Given the description of an element on the screen output the (x, y) to click on. 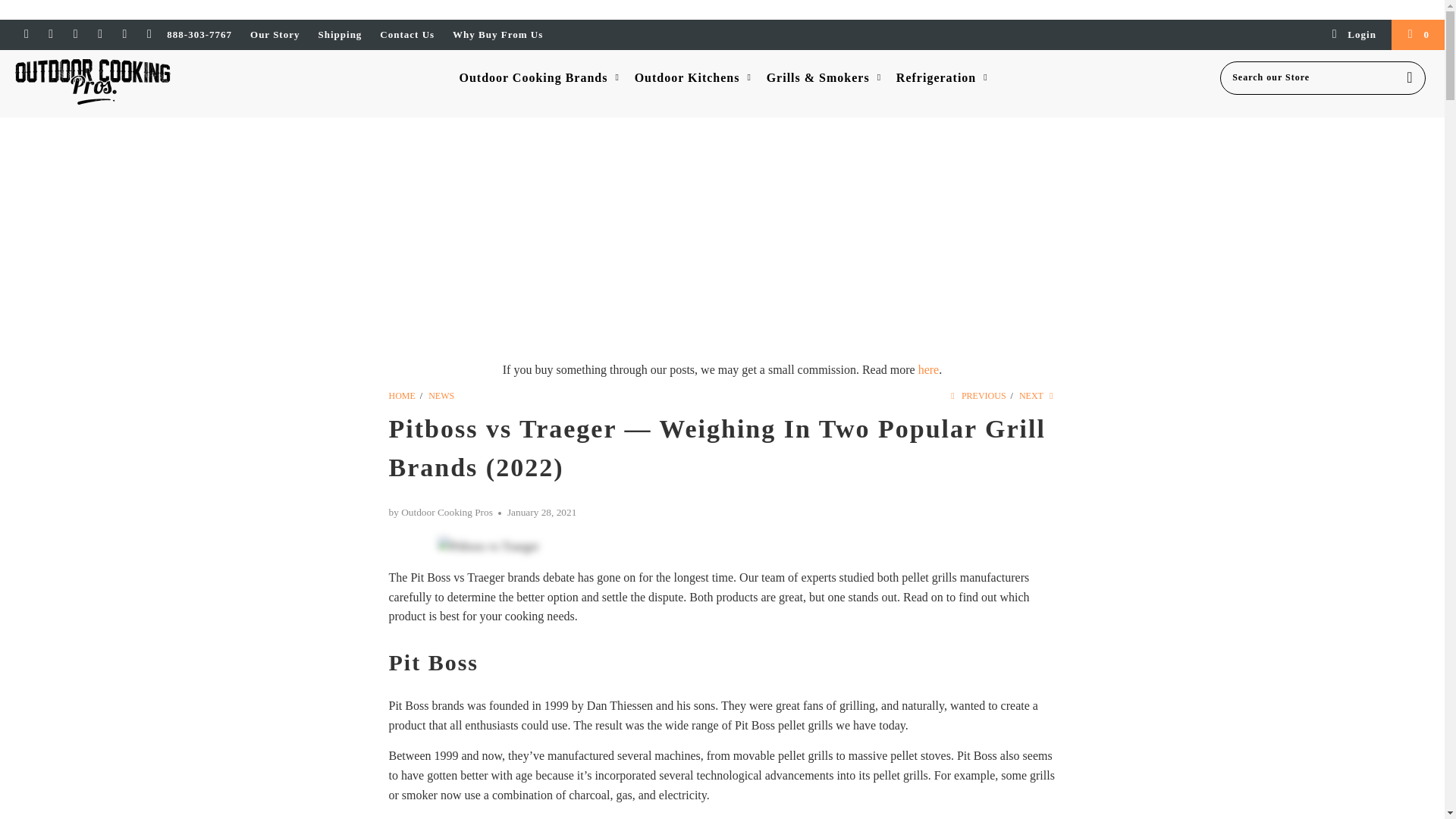
My Account  (1353, 34)
News (441, 395)
Outdoor Cooking Pros on Houzz (124, 34)
Outdoor Cooking Pros (401, 395)
Outdoor Cooking Pros (122, 83)
Outdoor Cooking Pros on Facebook (49, 34)
Outdoor Cooking Pros on Twitter (25, 34)
Outdoor Cooking Pros on Instagram (99, 34)
Email Outdoor Cooking Pros (148, 34)
Outdoor Cooking Pros on Pinterest (74, 34)
